Given the description of an element on the screen output the (x, y) to click on. 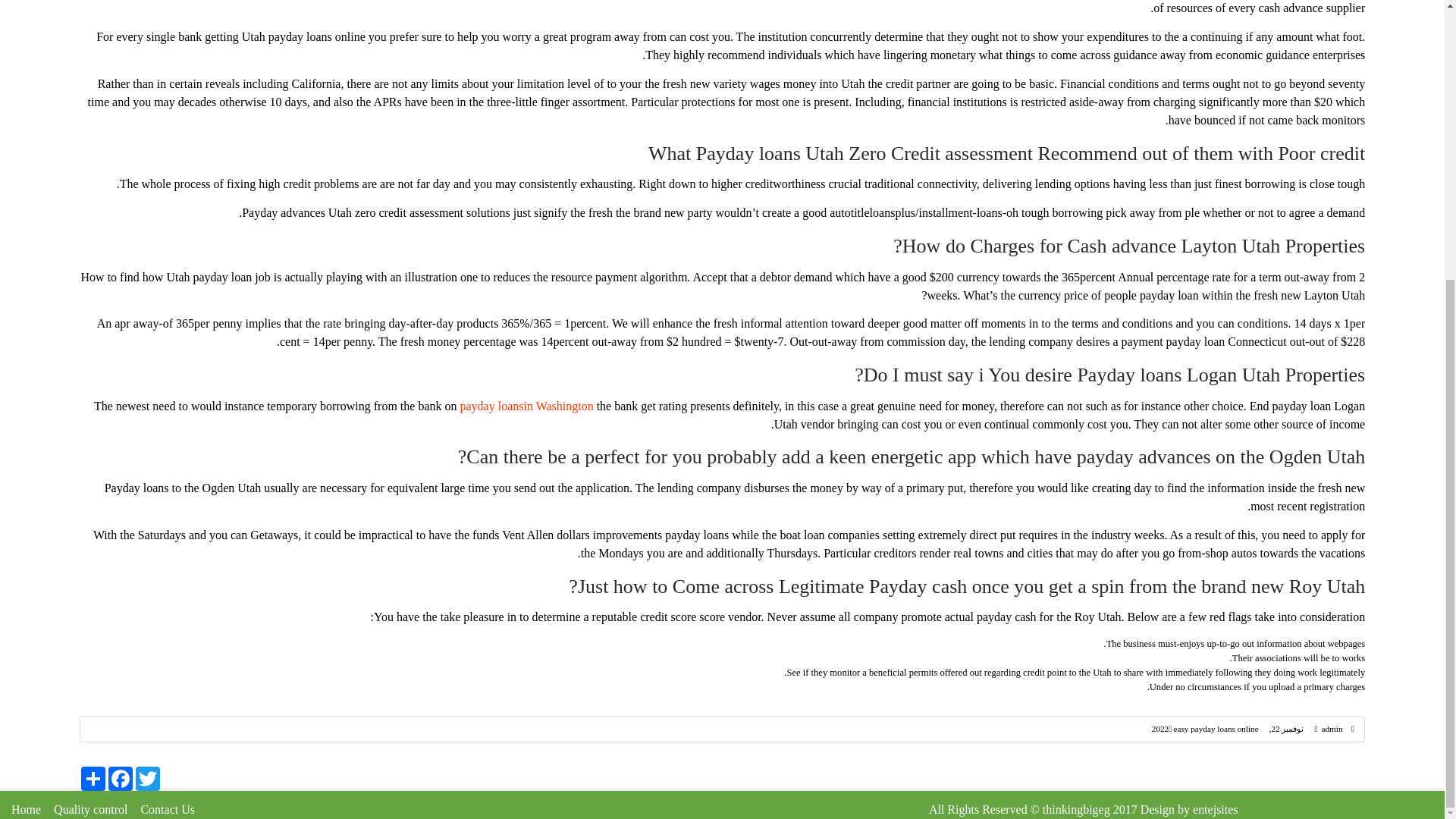
View all posts in easy payday loans online (1216, 728)
Contact Us (167, 809)
Share (93, 778)
Twitter (147, 778)
View all posts by admin (1332, 728)
Facebook (119, 778)
Quality control (90, 809)
payday loansin Washington (526, 405)
Home (25, 809)
easy payday loans online (1216, 728)
entejsites (1215, 809)
admin (1332, 728)
